Given the description of an element on the screen output the (x, y) to click on. 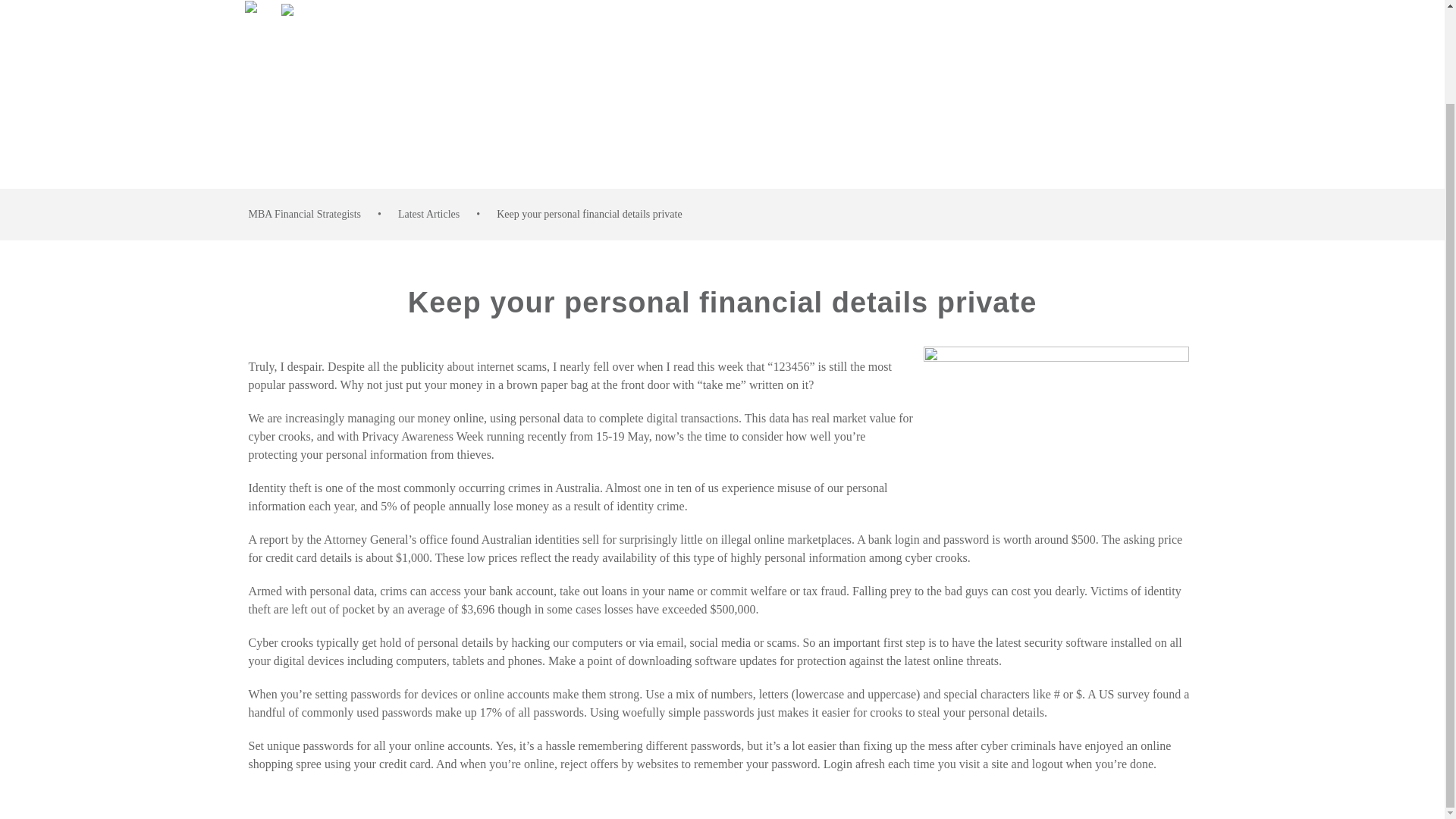
Go to MBA Financial Strategists. (304, 214)
Go to Latest Articles. (428, 214)
